Given the description of an element on the screen output the (x, y) to click on. 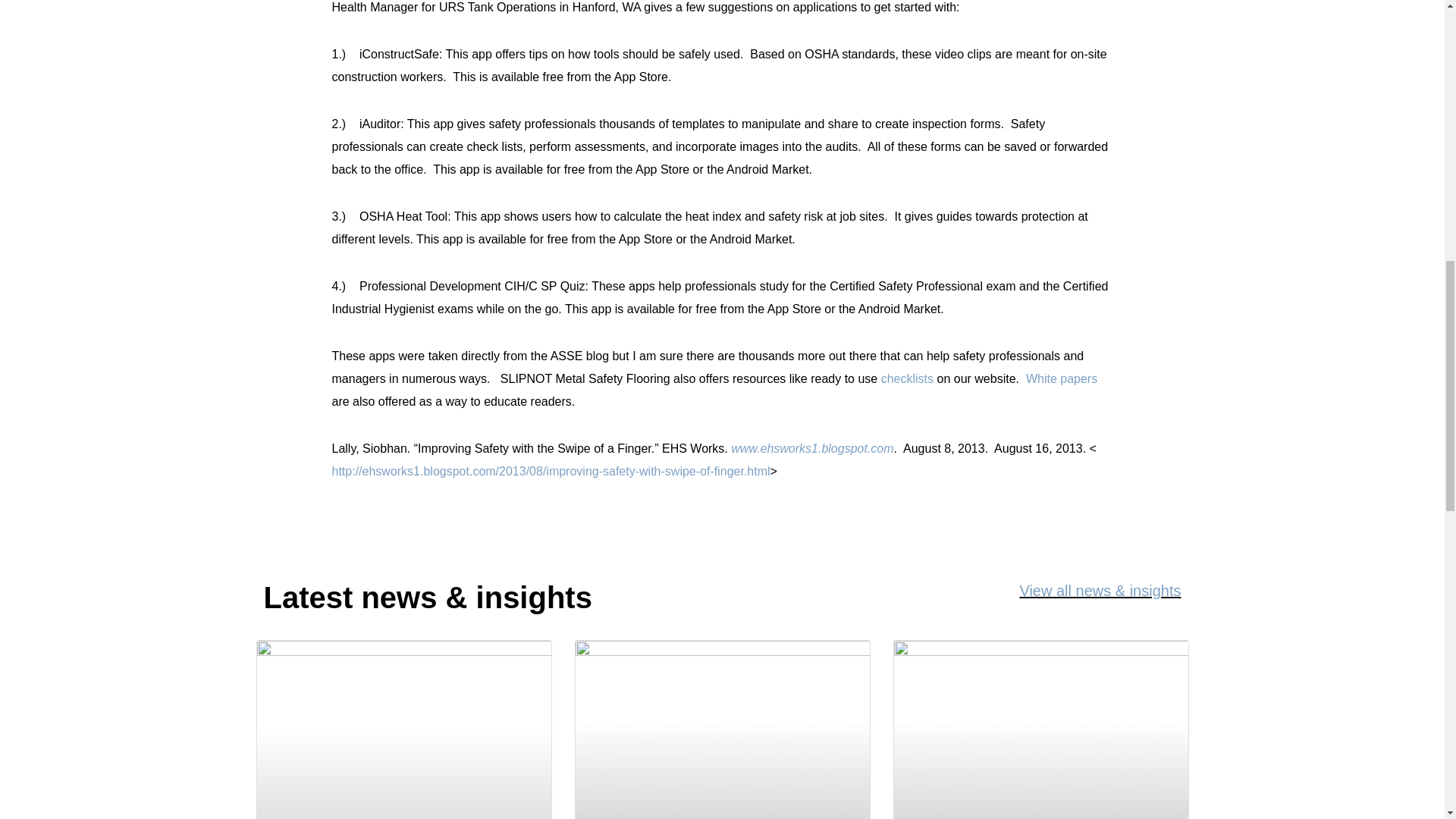
Safety White Papers (1061, 378)
Blog Website (811, 448)
Blog (550, 471)
www.ehsworks1.blogspot.com (811, 448)
Safety Checklists (906, 378)
checklists (906, 378)
White papers (1061, 378)
